Given the description of an element on the screen output the (x, y) to click on. 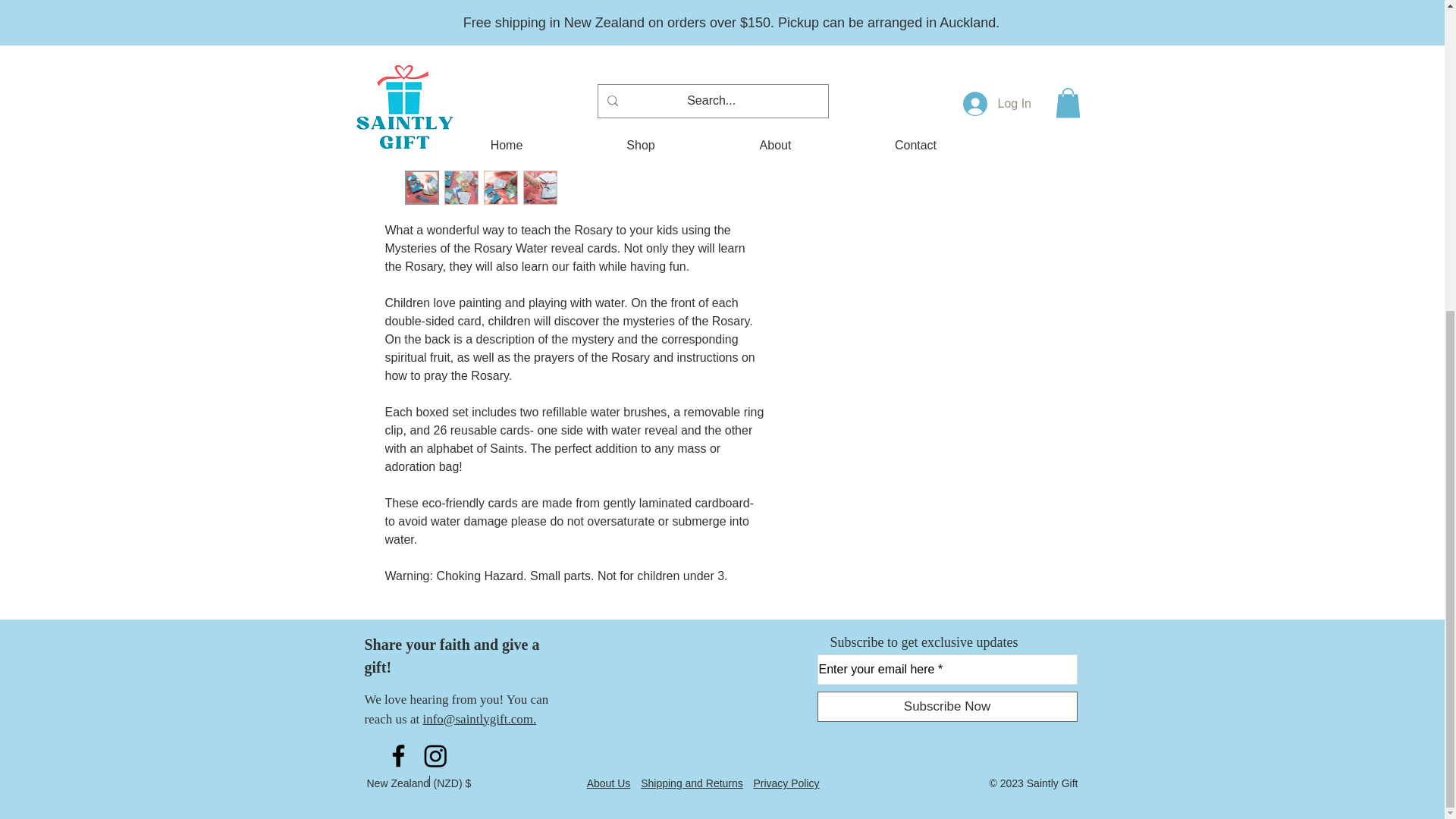
Subscribe Now (946, 706)
Privacy Policy (785, 783)
New Zealand   (397, 791)
Shipping and Returns (691, 783)
About Us (608, 783)
